Given the description of an element on the screen output the (x, y) to click on. 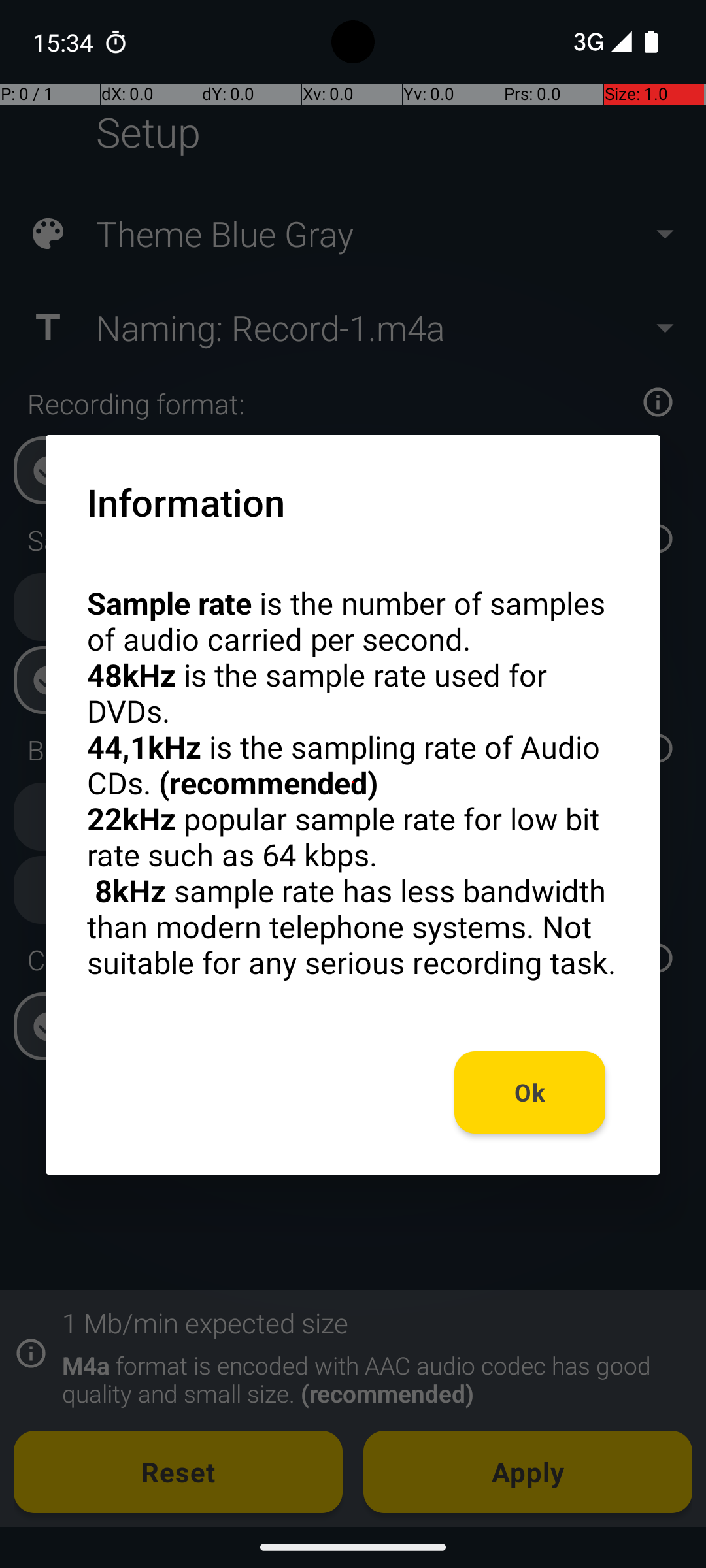
Sample rate is the number of samples of audio carried per second. 
48kHz is the sample rate used for DVDs. 
44,1kHz is the sampling rate of Audio CDs. (recommended) 
22kHz popular sample rate for low bit rate such as 64 kbps. 
 8kHz sample rate has less bandwidth than modern telephone systems. Not suitable for any serious recording task.  Element type: android.widget.TextView (352, 782)
3G Element type: android.widget.ImageView (587, 41)
